Given the description of an element on the screen output the (x, y) to click on. 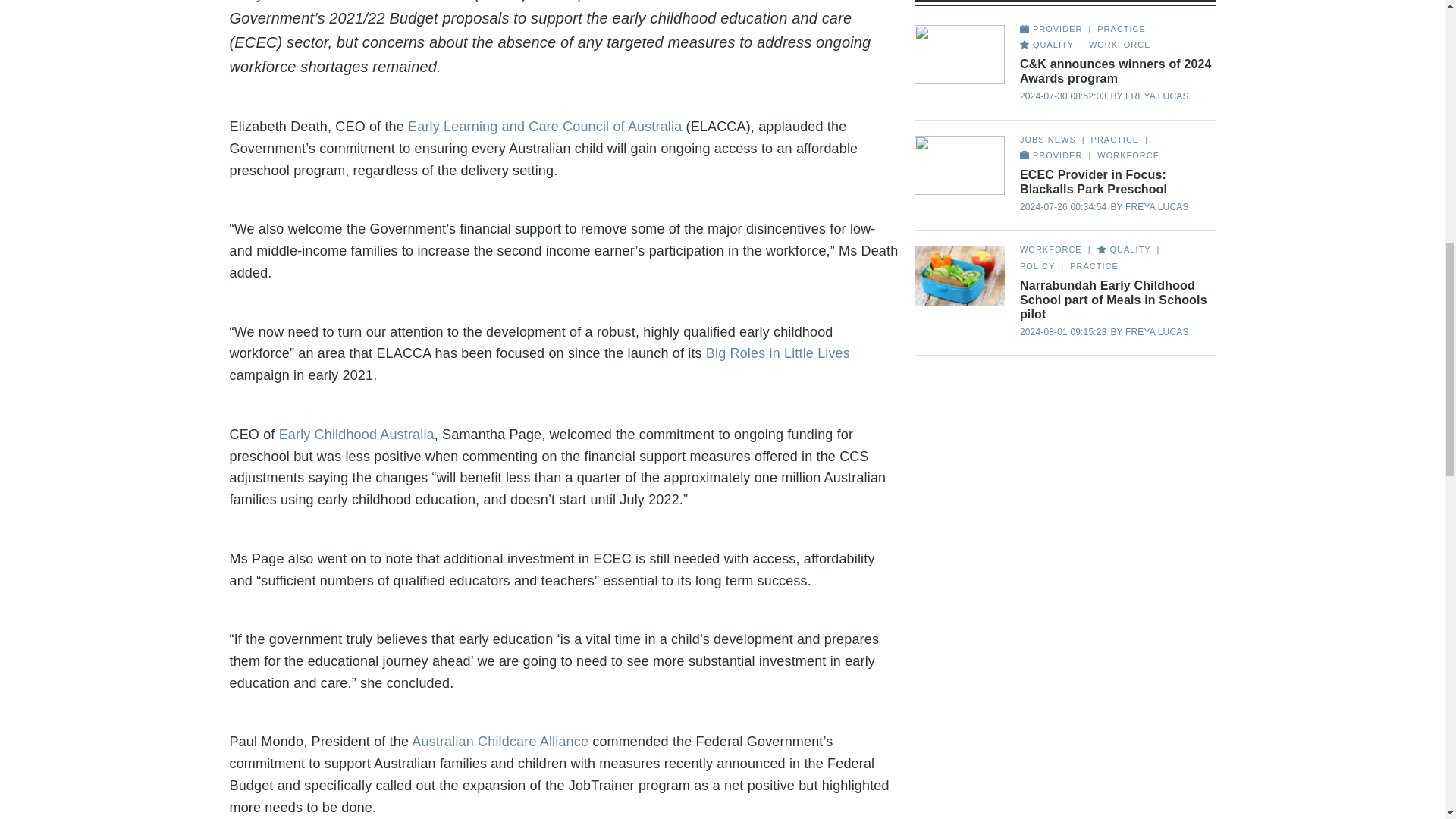
Big Roles in Little Lives (778, 353)
Early Childhood Australia (356, 434)
Early Learning and Care Council of Australia (544, 126)
Australian Childcare Alliance (500, 741)
